Given the description of an element on the screen output the (x, y) to click on. 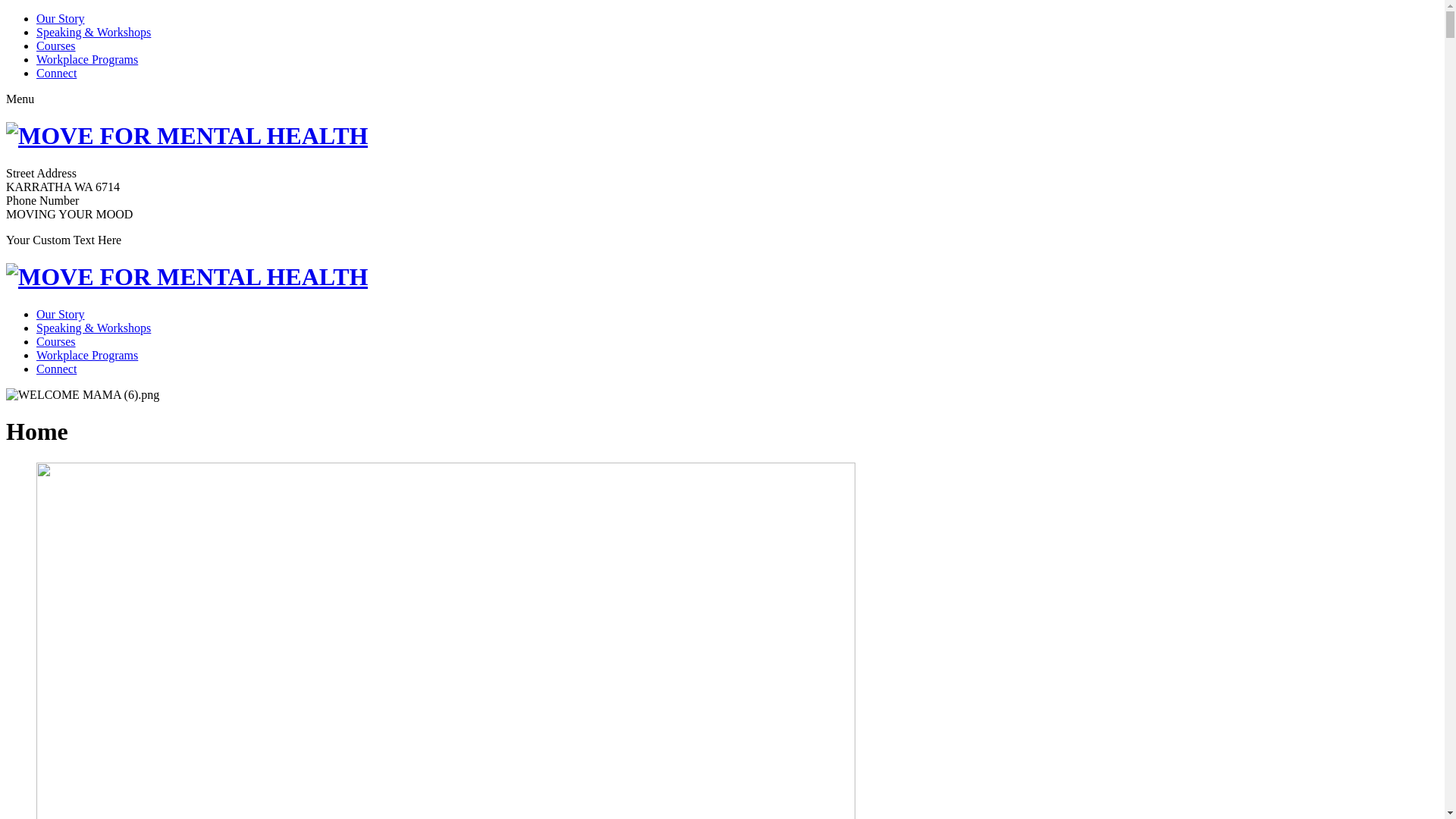
Connect Element type: text (56, 72)
Connect Element type: text (56, 368)
Courses Element type: text (55, 341)
Speaking & Workshops Element type: text (93, 327)
Our Story Element type: text (60, 18)
Workplace Programs Element type: text (87, 354)
Speaking & Workshops Element type: text (93, 31)
Workplace Programs Element type: text (87, 59)
Courses Element type: text (55, 45)
Menu Element type: text (20, 98)
Our Story Element type: text (60, 313)
